Given the description of an element on the screen output the (x, y) to click on. 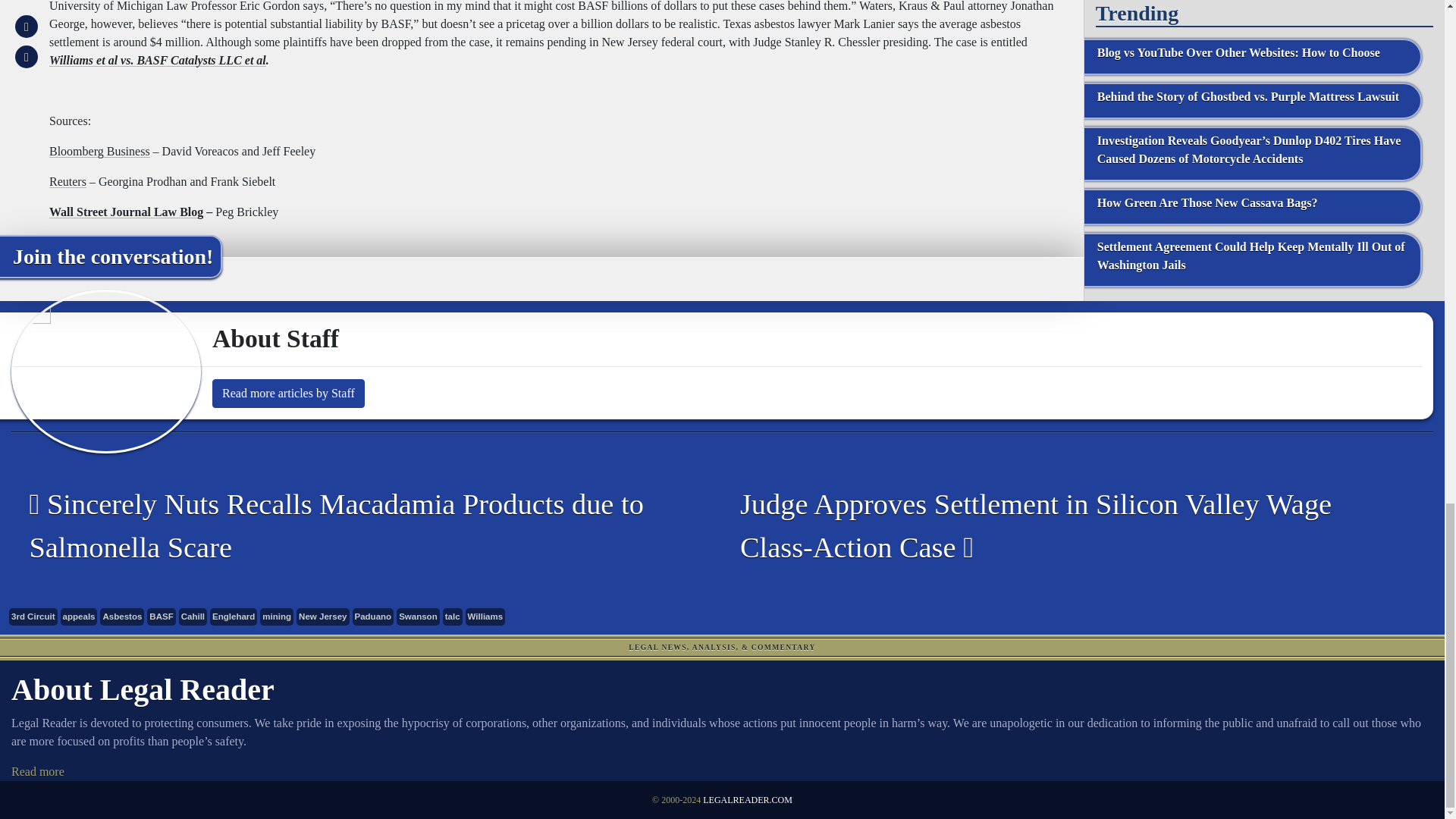
Bloomberg Business (99, 151)
3rd Circuit (33, 616)
Cahill (192, 616)
mining (277, 616)
Reuters (67, 181)
Englehard (233, 616)
appeals (79, 616)
BASF (160, 616)
Read more articles by Staff (288, 393)
